Given the description of an element on the screen output the (x, y) to click on. 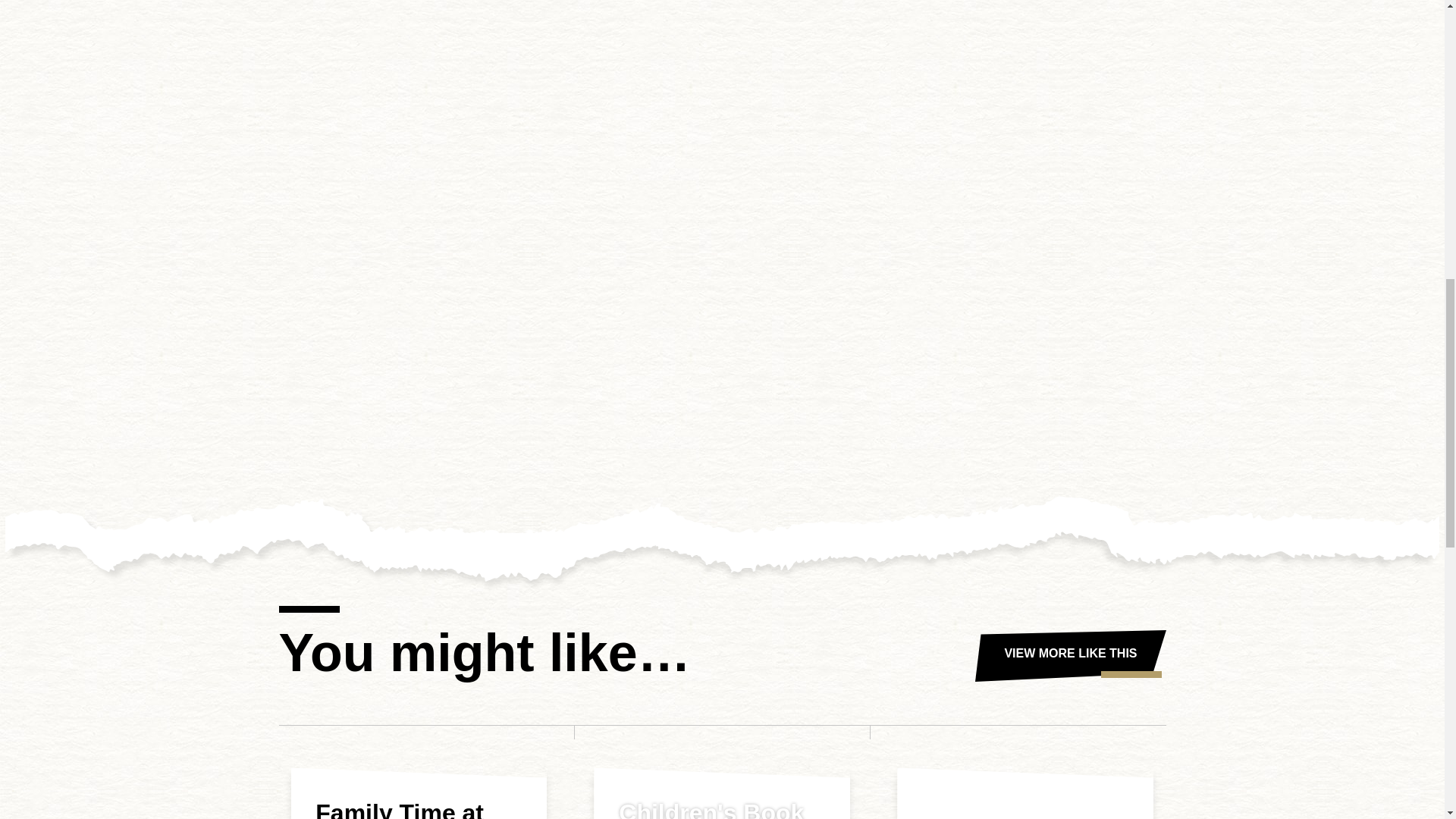
Family Time at your Library (419, 793)
VIEW MORE LIKE THIS (1070, 655)
Children's Book Festival 2024 (722, 793)
Positive Ageing Week 2024 (1024, 793)
